Given the description of an element on the screen output the (x, y) to click on. 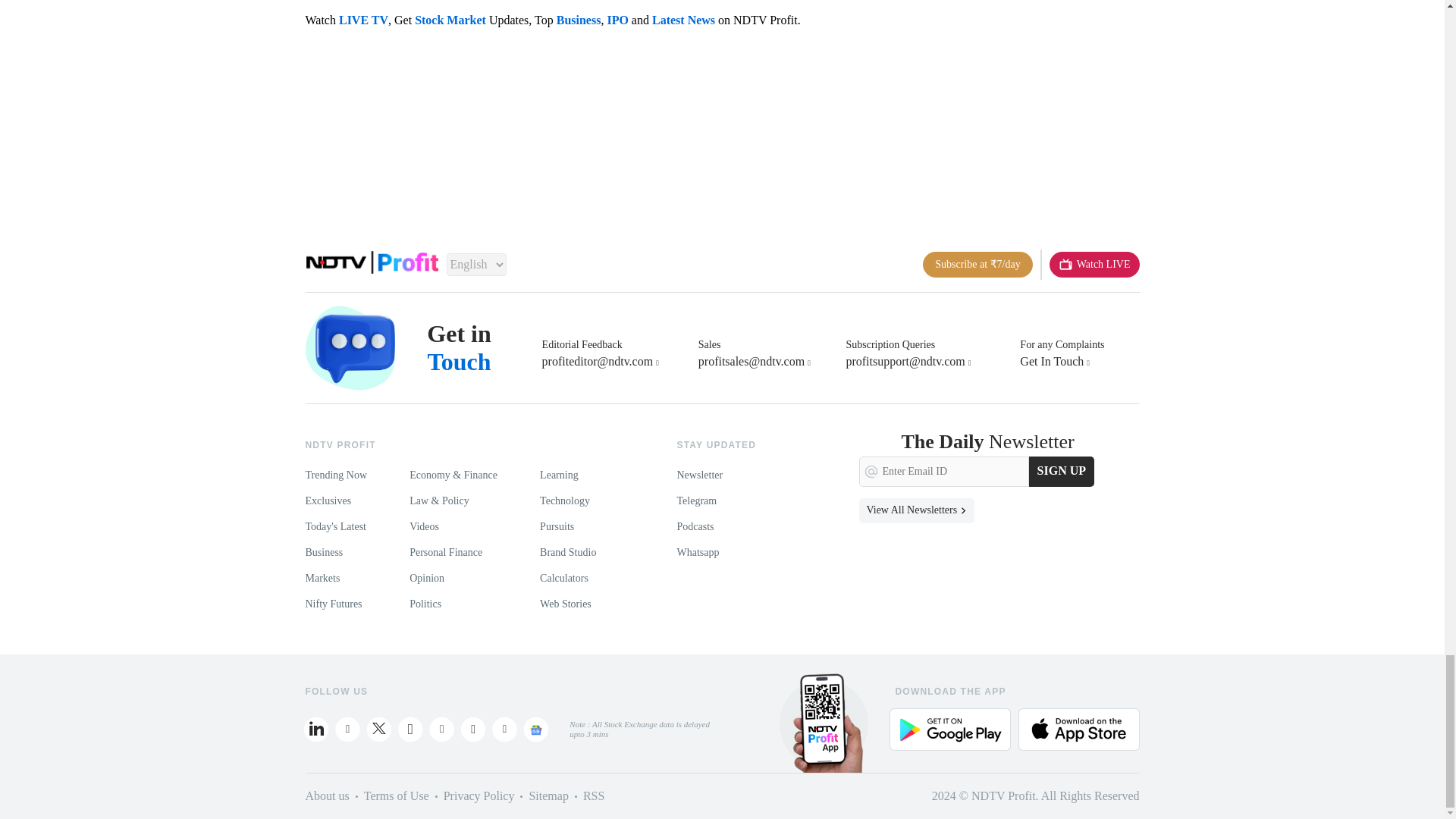
Live TV (1094, 264)
